Given the description of an element on the screen output the (x, y) to click on. 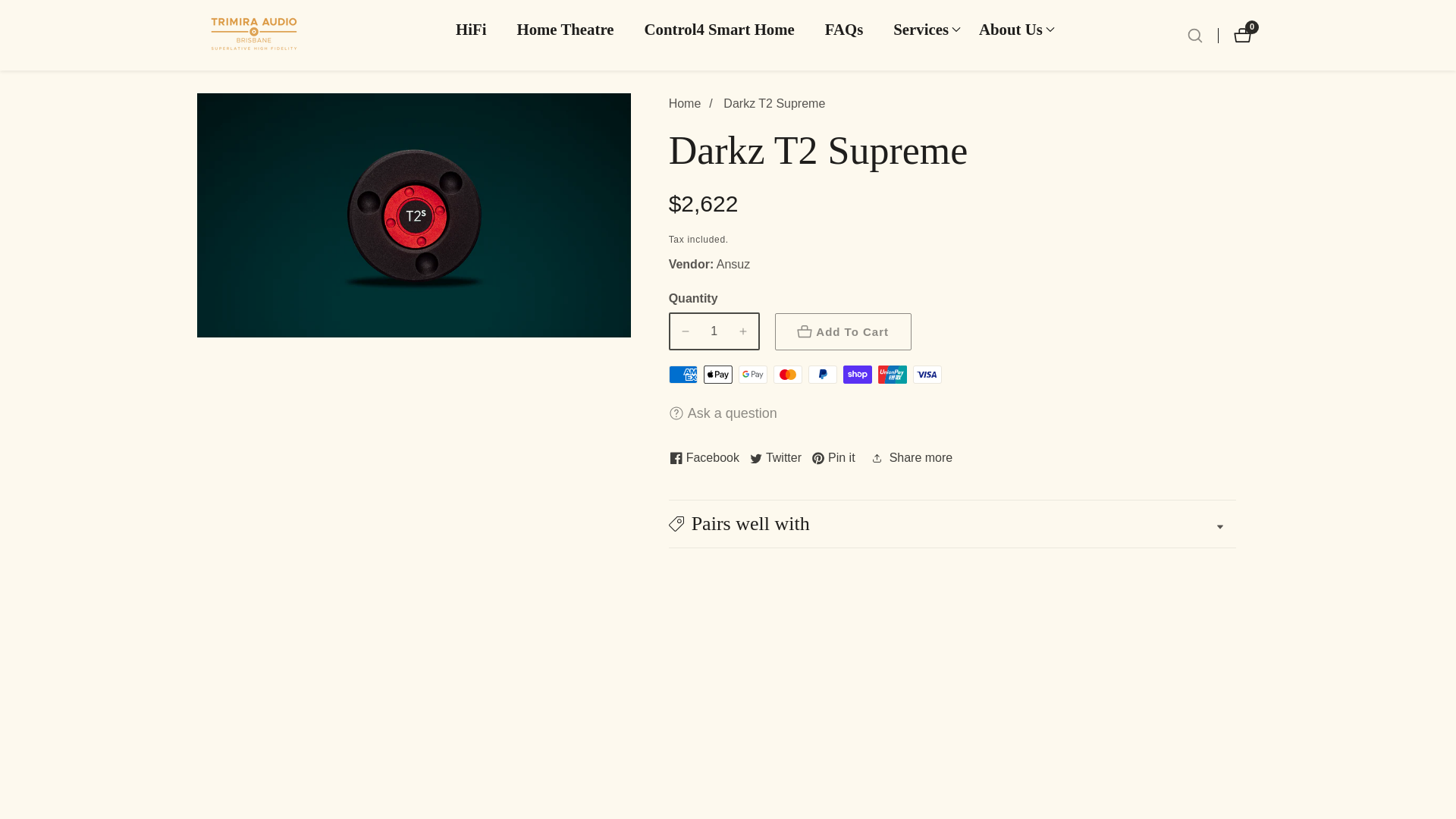
Home Theatre (564, 29)
Visa (927, 374)
Union Pay (892, 374)
Control4 Smart Home (1246, 34)
Google Pay (718, 29)
Mastercard (752, 374)
Follow us on Pinterest (787, 374)
Shop Pay (833, 458)
Skip to content (857, 374)
American Express (11, 7)
PayPal (682, 374)
Follow us on Twitter (822, 374)
Apple Pay (775, 458)
Follow us on Facebook (717, 374)
